Given the description of an element on the screen output the (x, y) to click on. 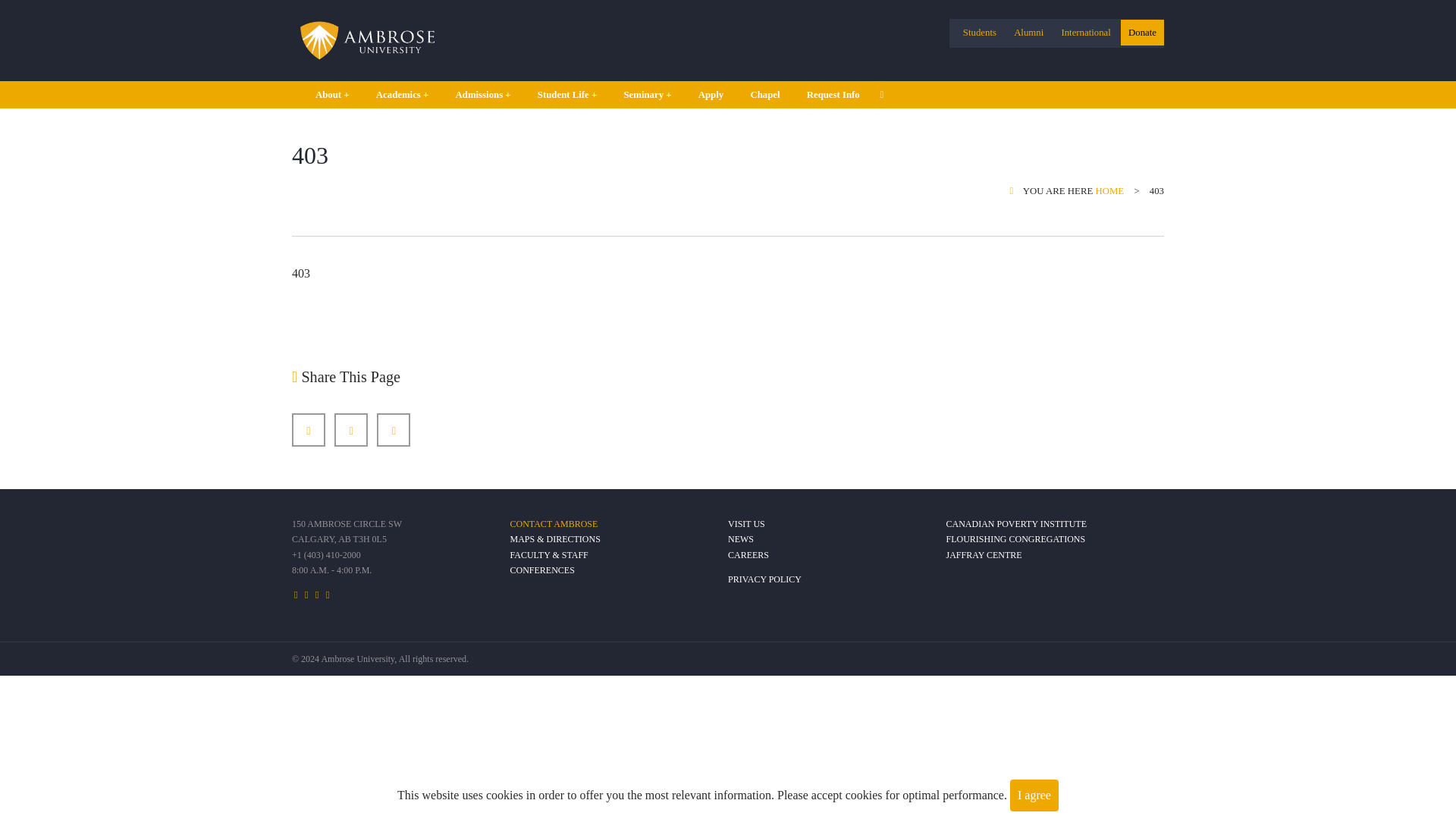
Alumni (1028, 32)
Donate (1142, 32)
International (1085, 32)
Students (978, 32)
